Given the description of an element on the screen output the (x, y) to click on. 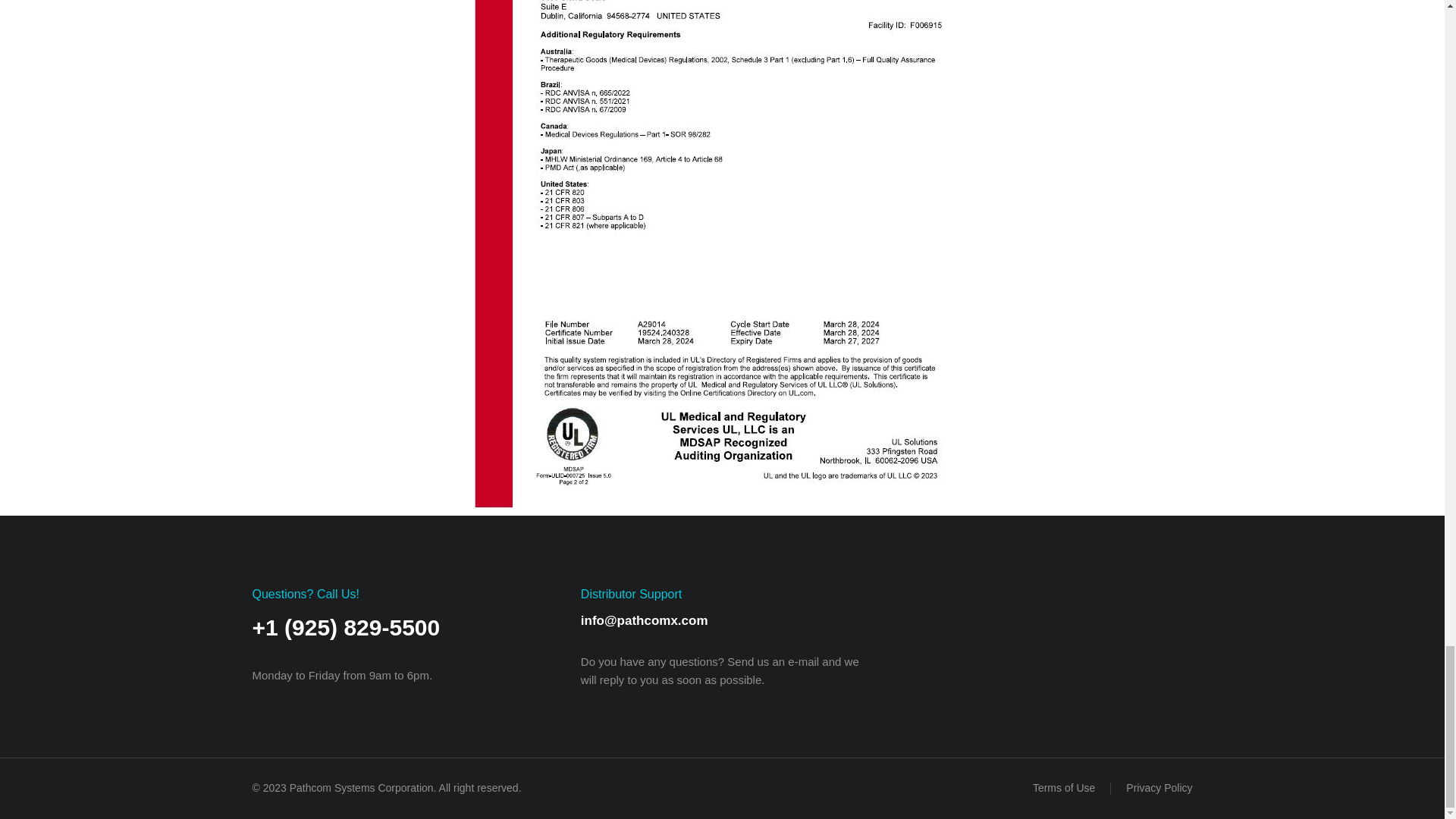
Terms of Use (1063, 788)
Privacy Policy (1158, 788)
